Given the description of an element on the screen output the (x, y) to click on. 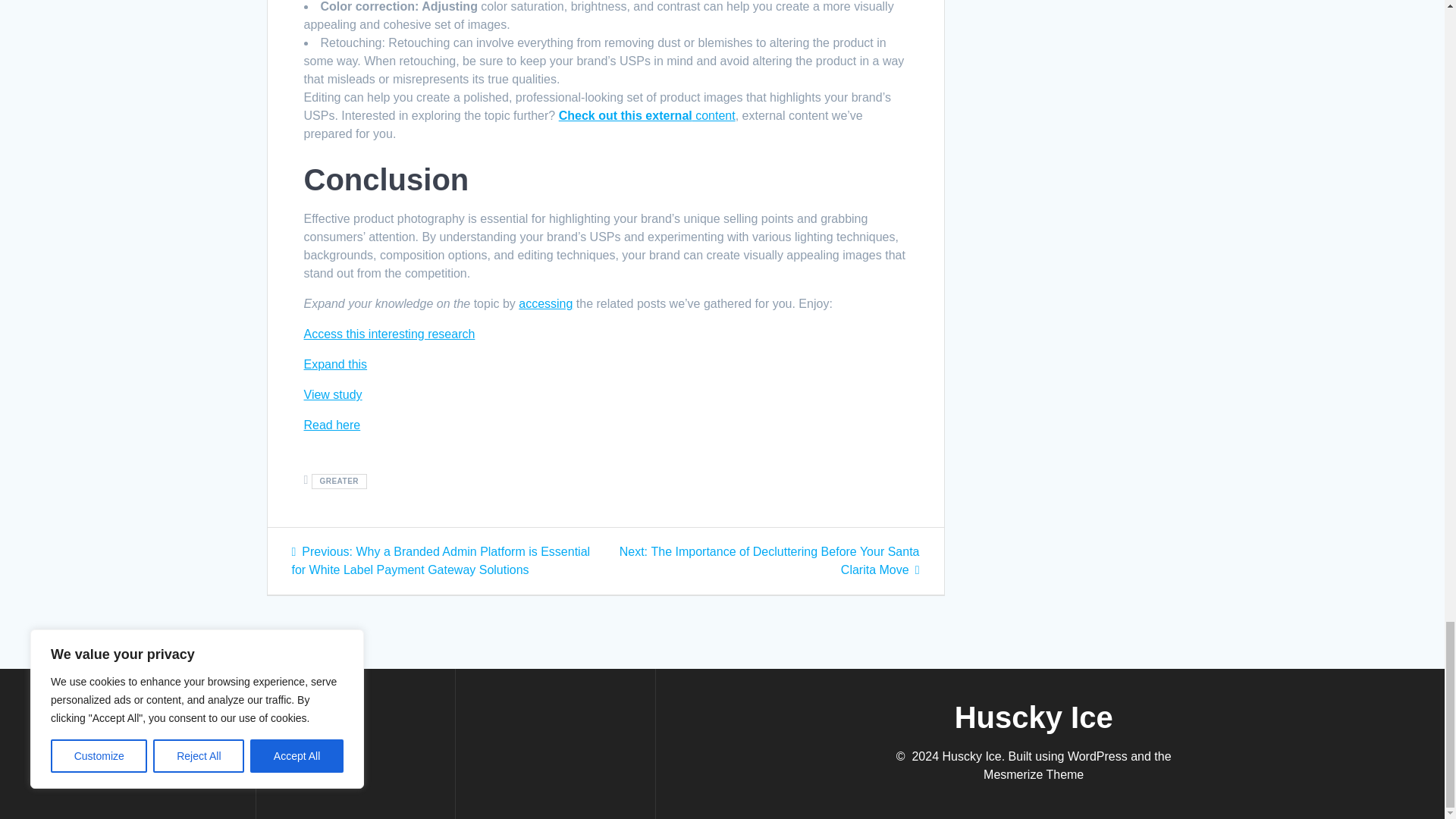
accessing (545, 303)
View study (331, 394)
Expand this (334, 364)
Read here (330, 424)
Check out this external content (647, 115)
Access this interesting research (388, 333)
GREATER (338, 481)
